Given the description of an element on the screen output the (x, y) to click on. 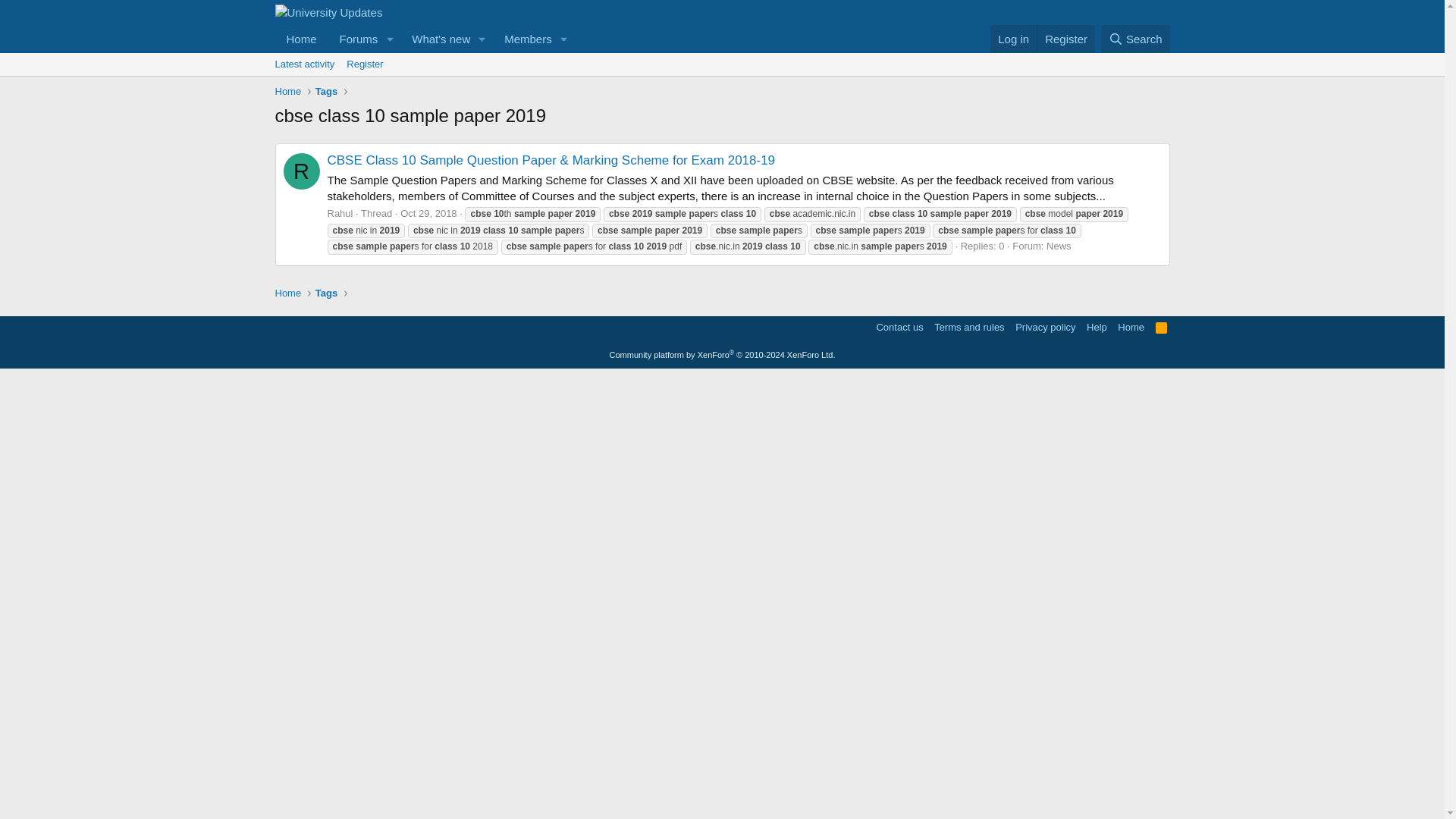
Register (364, 64)
RSS (1161, 327)
Tags (326, 91)
What's new (435, 39)
Search (423, 39)
Oct 29, 2018 at 1:38 PM (1135, 39)
Rahul (428, 213)
Log in (340, 213)
R (1013, 39)
Home (301, 171)
Home (287, 91)
Register (423, 39)
